Given the description of an element on the screen output the (x, y) to click on. 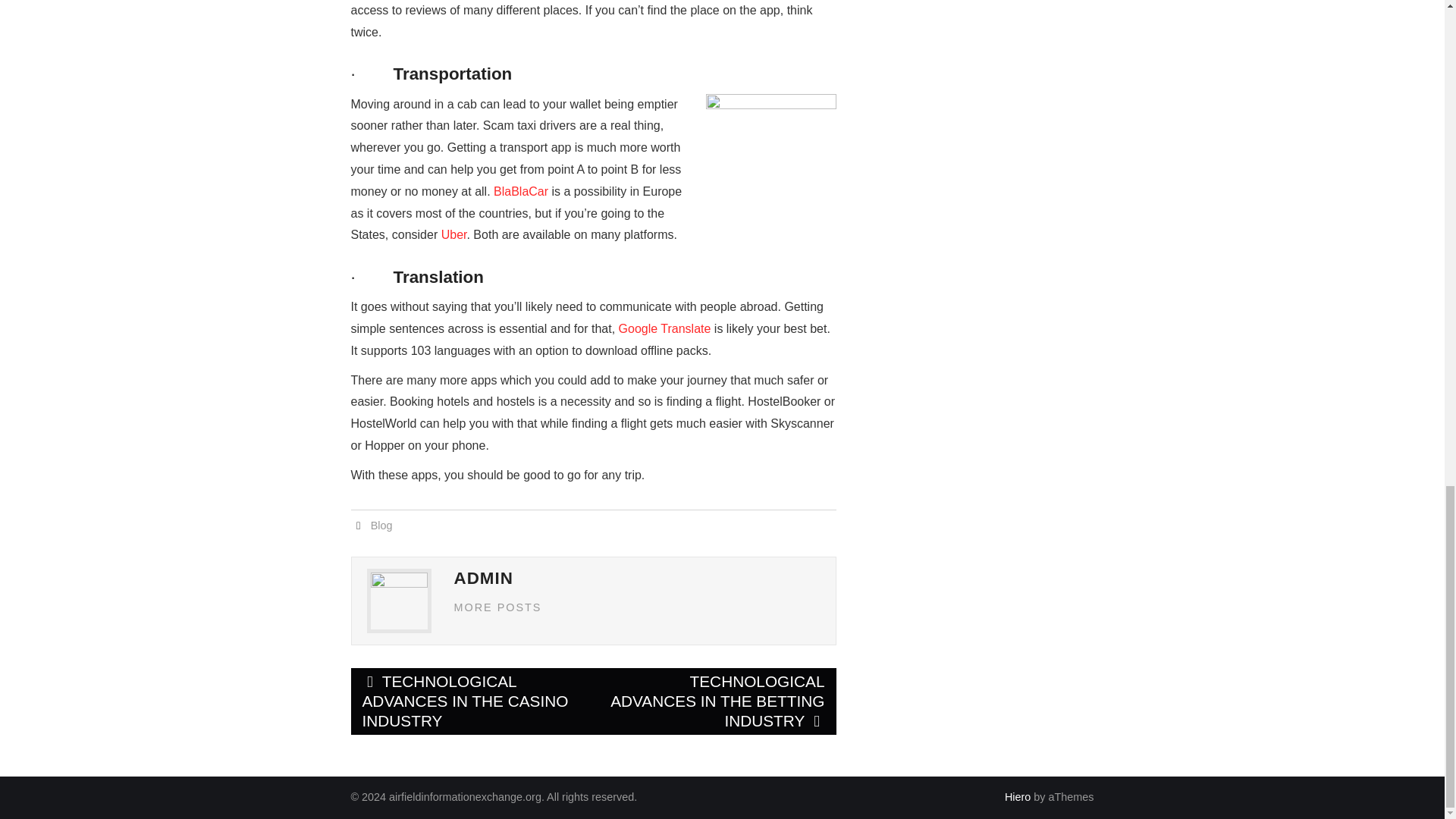
Blog (382, 525)
Hiero (1017, 797)
Google Translate (664, 328)
MORE POSTS (496, 607)
Uber (454, 234)
TECHNOLOGICAL ADVANCES IN THE CASINO INDUSTRY (471, 701)
BlaBlaCar (520, 191)
TECHNOLOGICAL ADVANCES IN THE BETTING INDUSTRY (713, 701)
